Given the description of an element on the screen output the (x, y) to click on. 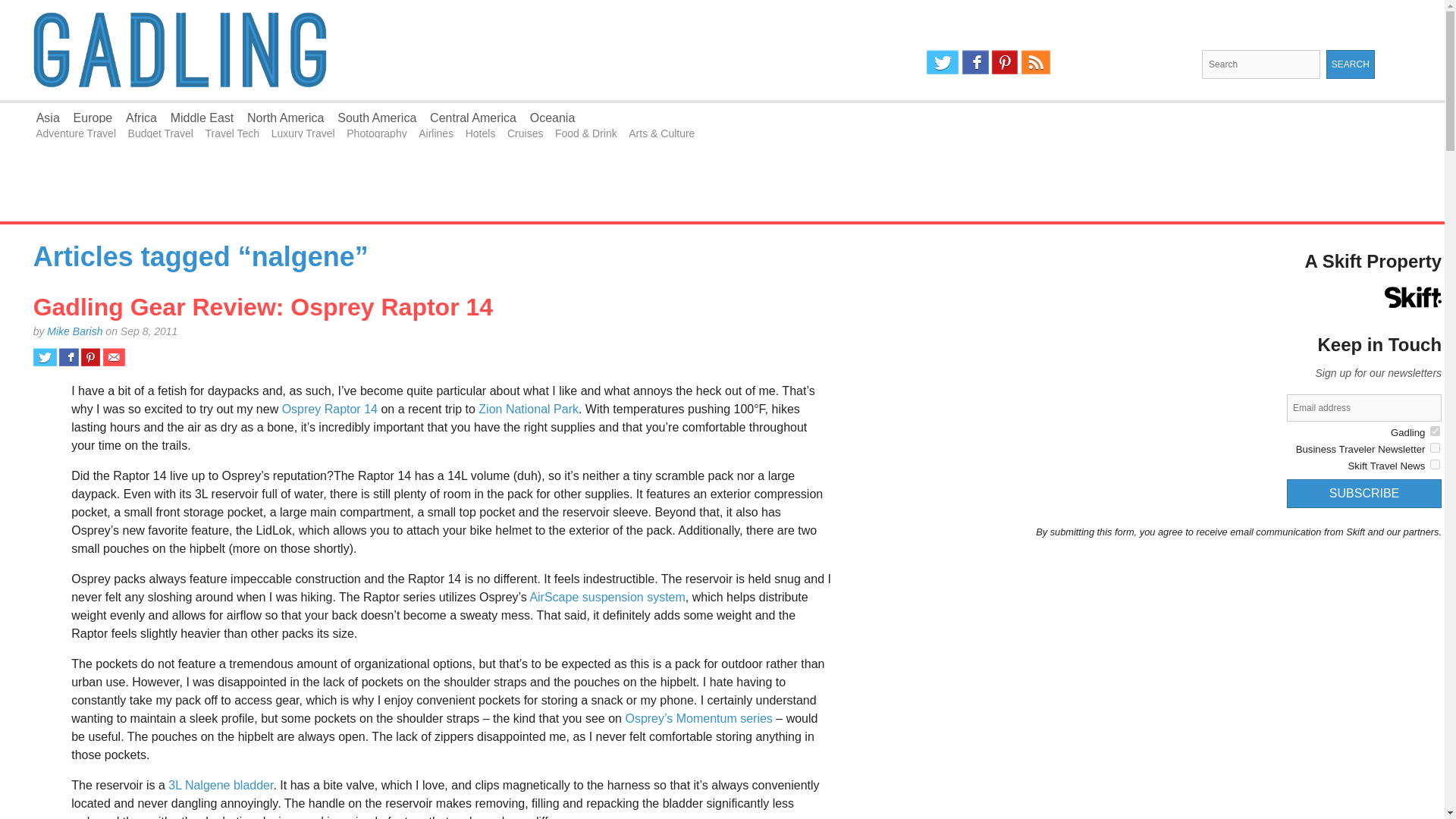
Luxury Travel (302, 133)
Africa (141, 117)
Search (1350, 63)
256 (1434, 430)
AirScape suspension system (606, 596)
Subscribe (1364, 493)
Gadling Gear Review: Osprey Raptor 14 (263, 307)
RSS Feed (1035, 61)
Share via email (114, 357)
Pinterest (1004, 61)
Gadling (360, 49)
1 (1434, 464)
Cruises (524, 133)
Europe (93, 117)
Twitter (942, 61)
